Given the description of an element on the screen output the (x, y) to click on. 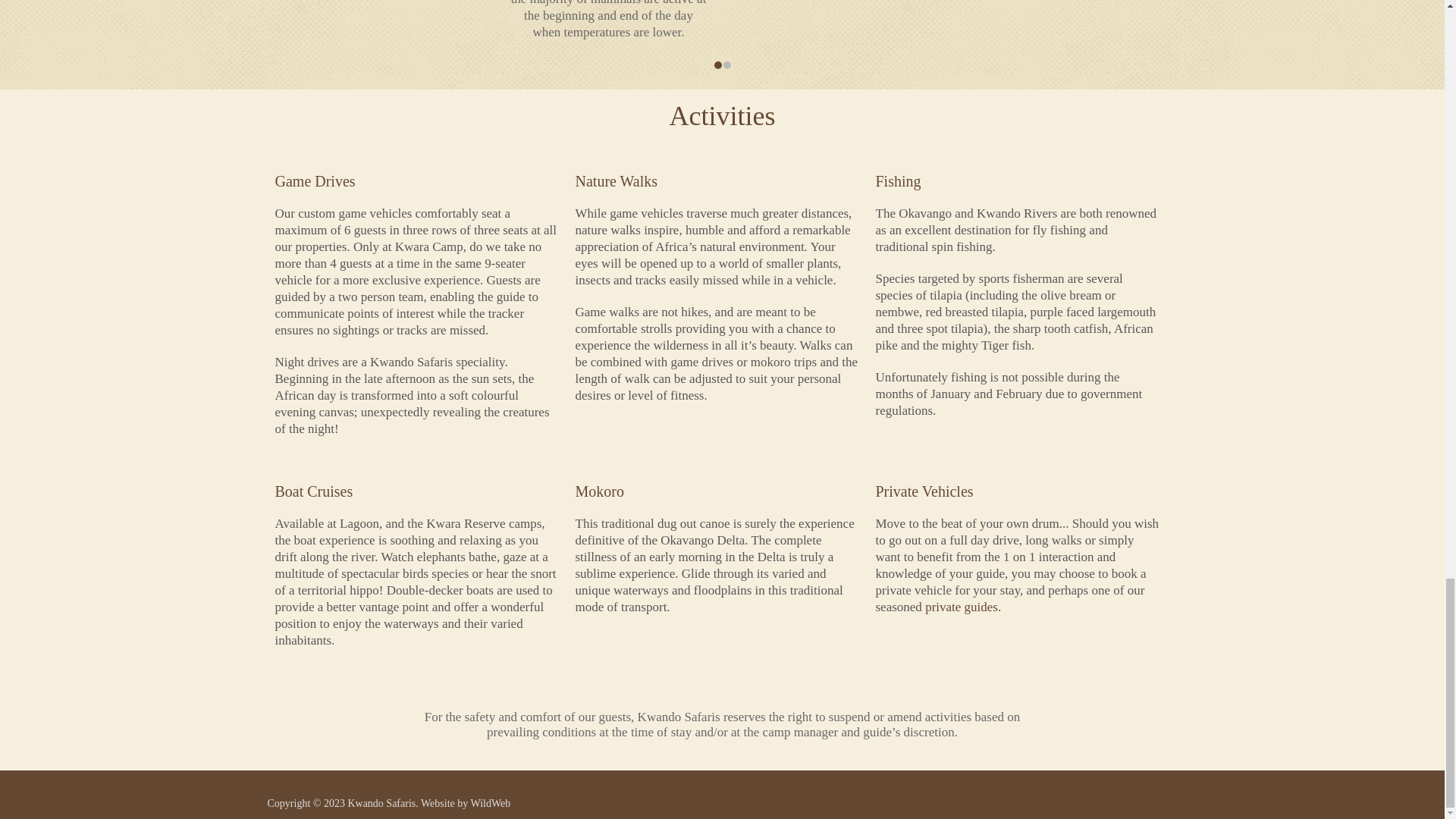
private guides. (962, 606)
WildWeb (490, 803)
